Given the description of an element on the screen output the (x, y) to click on. 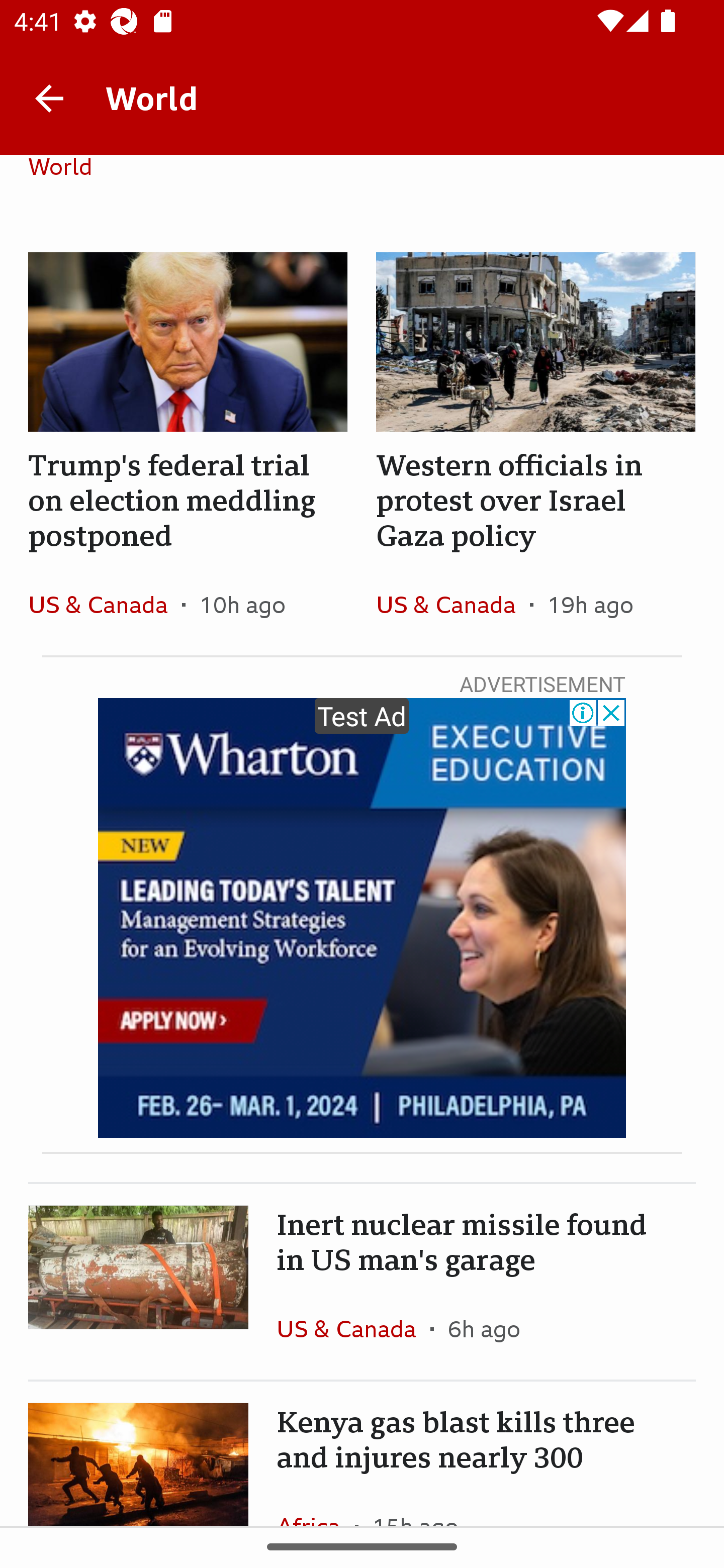
Back (49, 97)
World In the section World (67, 185)
US & Canada In the section US & Canada (104, 604)
US & Canada In the section US & Canada (452, 604)
Advertisement (361, 917)
US & Canada In the section US & Canada (353, 1328)
